Given the description of an element on the screen output the (x, y) to click on. 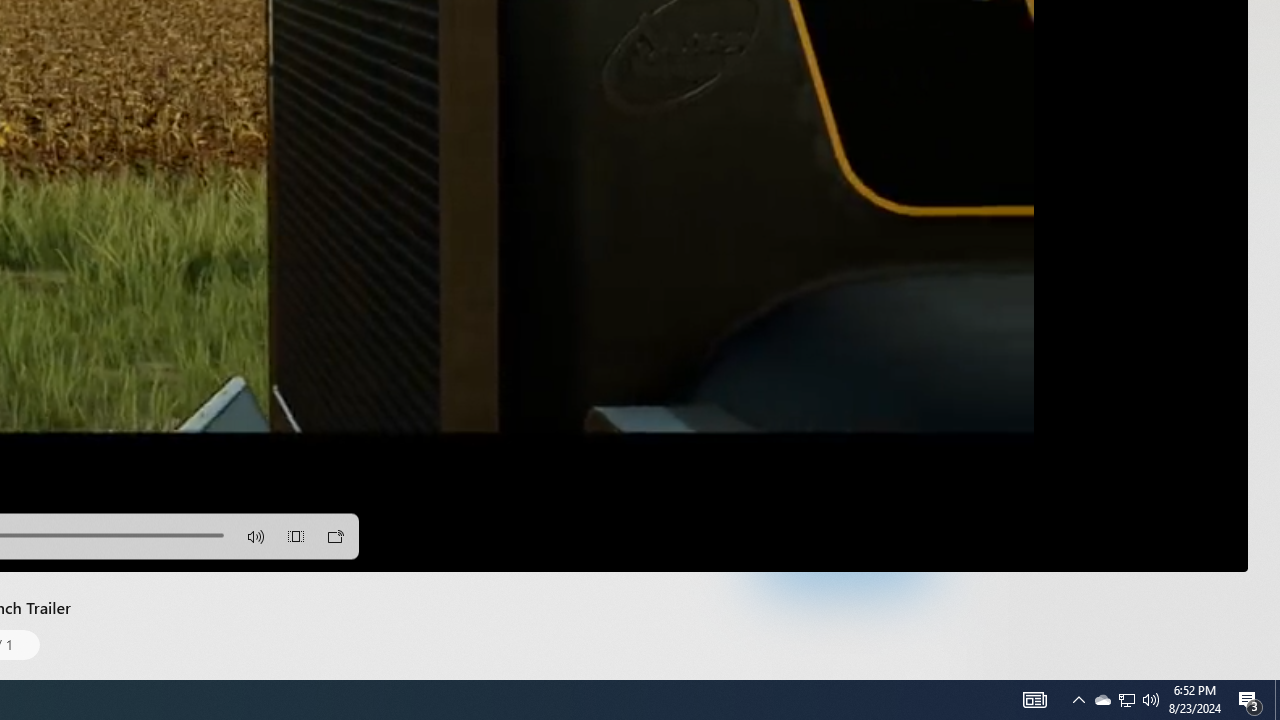
Aspect Ratio (296, 535)
Share (950, 456)
Cast to Device (335, 535)
Explore PC Game Pass (844, 560)
Volume (255, 535)
Buy as gift (909, 456)
Open Xbox App (844, 603)
